Given the description of an element on the screen output the (x, y) to click on. 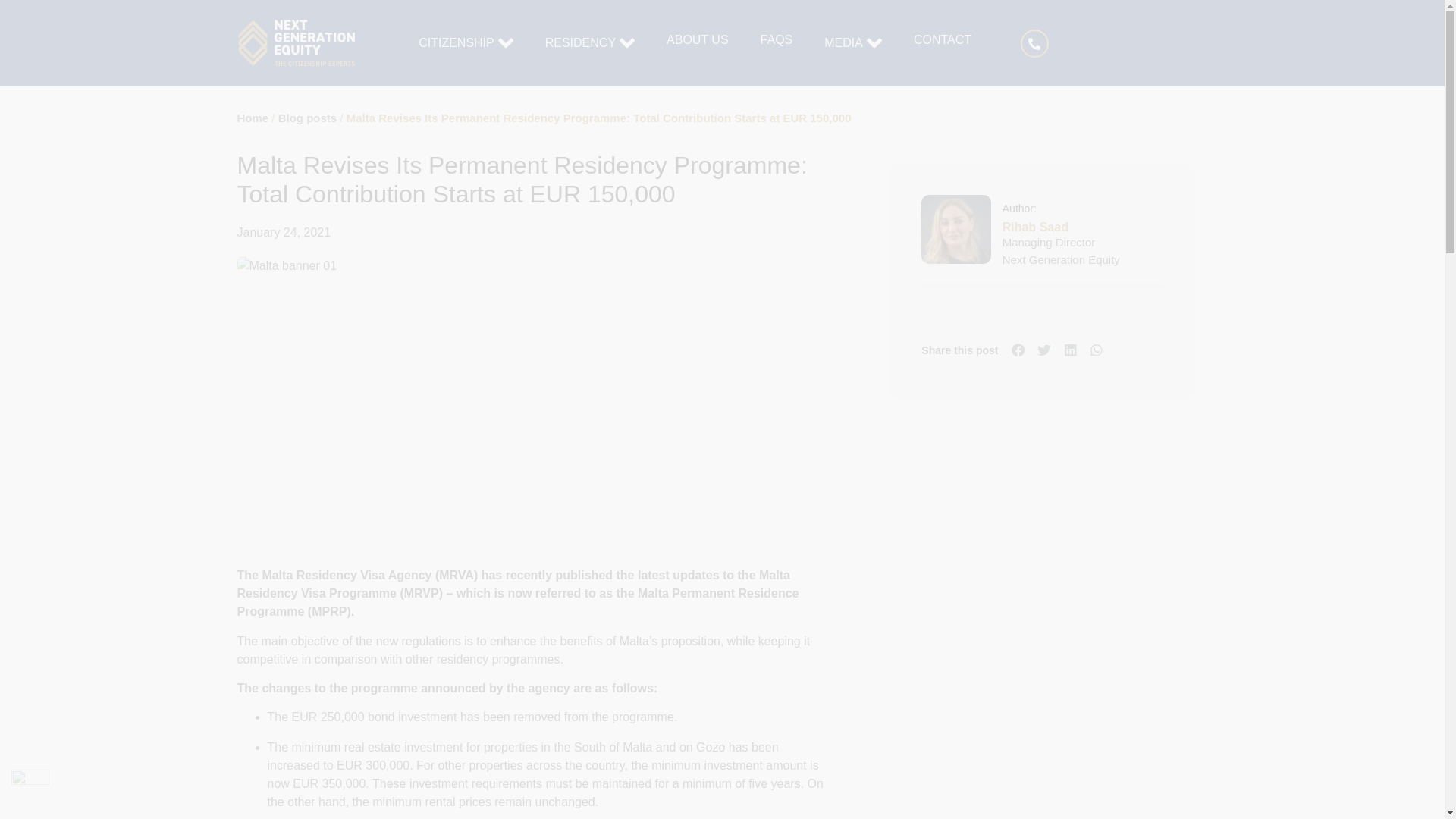
RESIDENCY (579, 43)
MEDIA (843, 43)
FAQS (776, 40)
ABOUT US (697, 40)
CITIZENSHIP (457, 43)
